Given the description of an element on the screen output the (x, y) to click on. 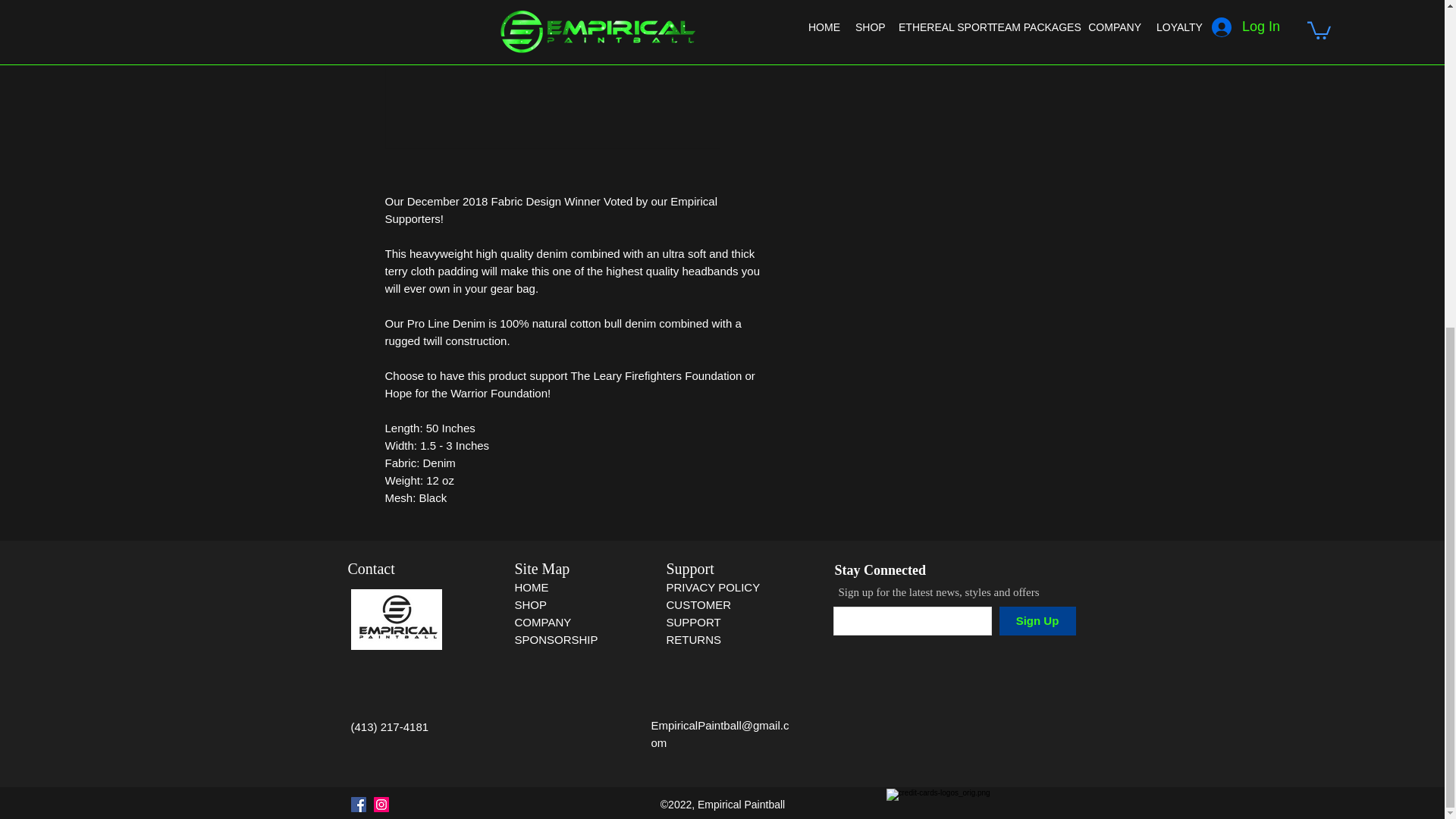
SHOP (530, 604)
CUSTOMER SUPPORT (697, 613)
COMPANY (541, 621)
HOME (530, 586)
SPONSORSHIP (554, 639)
PRIVACY POLICY  (713, 586)
